Given the description of an element on the screen output the (x, y) to click on. 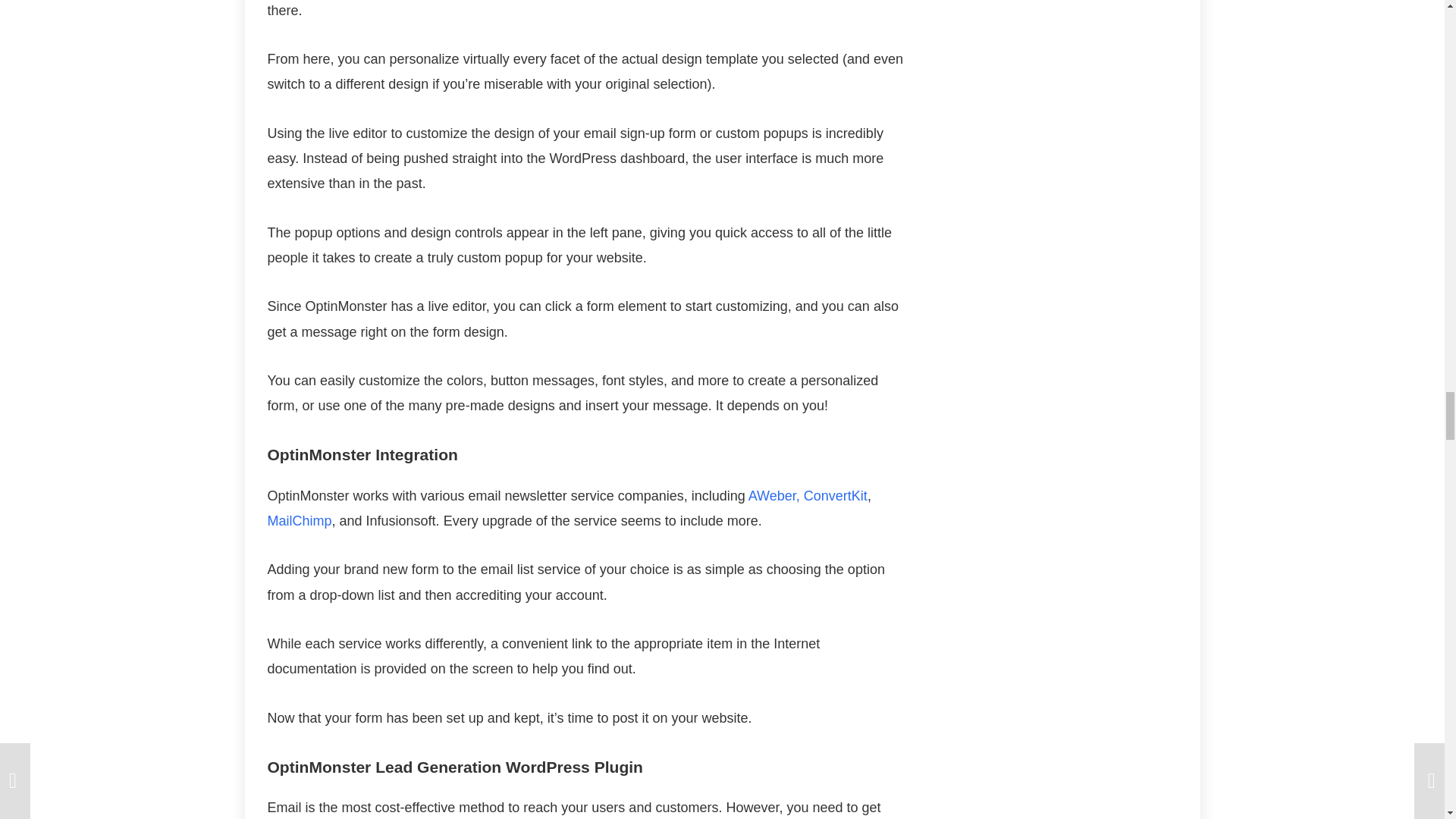
AWeber, (773, 495)
